Given the description of an element on the screen output the (x, y) to click on. 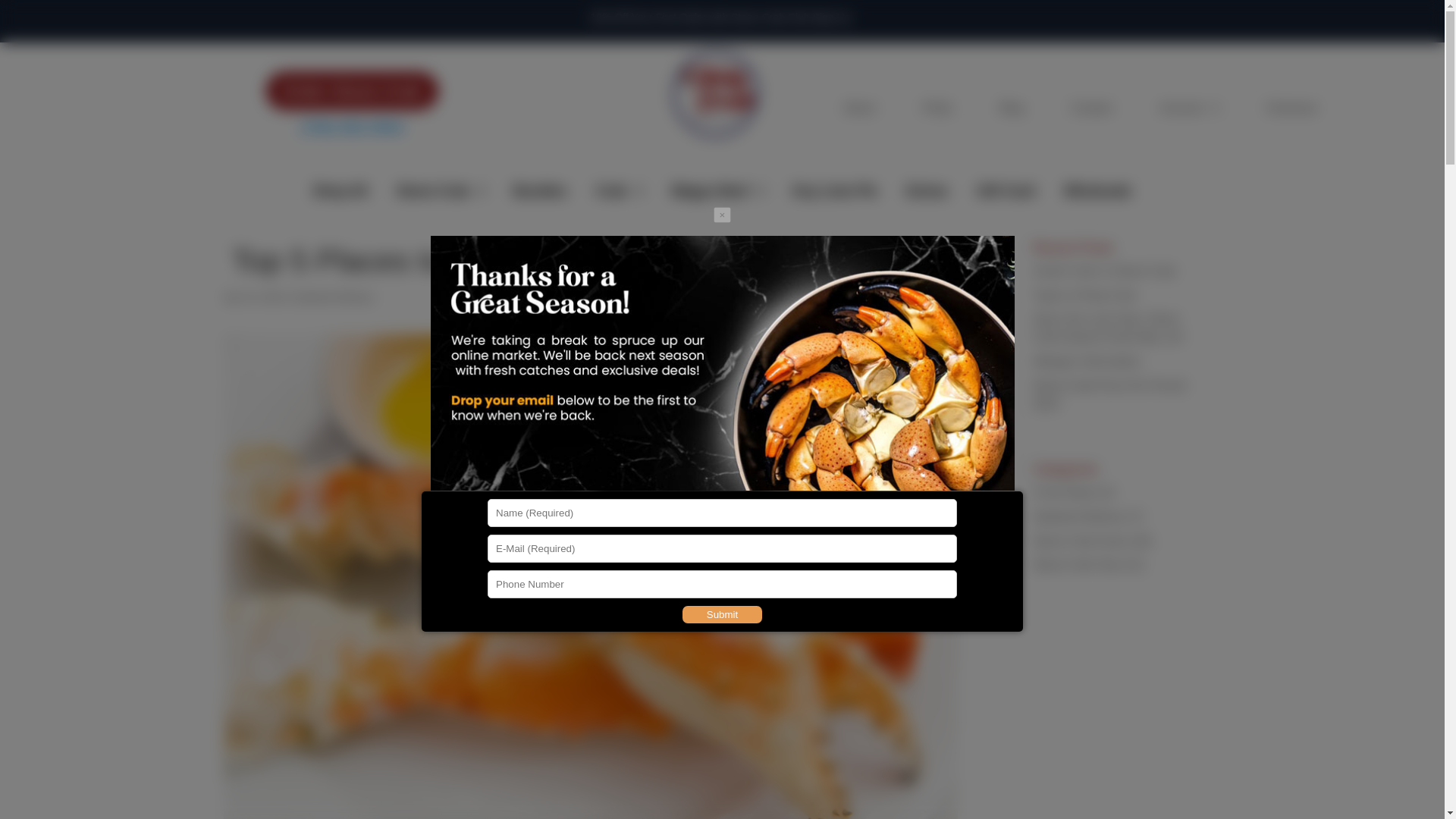
Blog (1010, 110)
Account (1188, 110)
Order Stone Crab (352, 90)
Contact (1091, 110)
FAQs (936, 110)
holy-crab-delivery-logo-white-outline (716, 102)
About (859, 110)
